Given the description of an element on the screen output the (x, y) to click on. 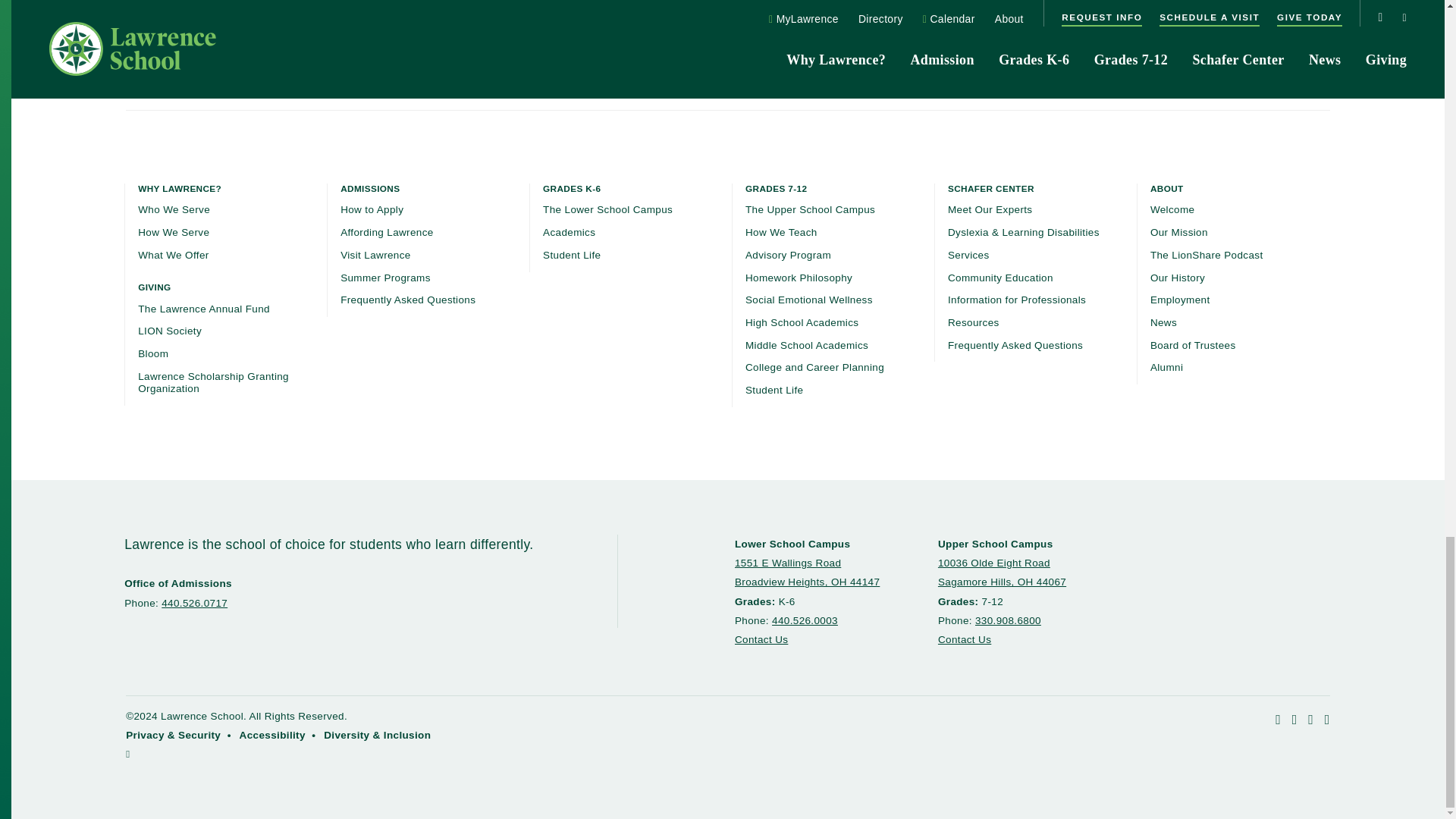
Orton-Gillingham. What is it? (320, 18)
Now registering for summer! (727, 18)
